Given the description of an element on the screen output the (x, y) to click on. 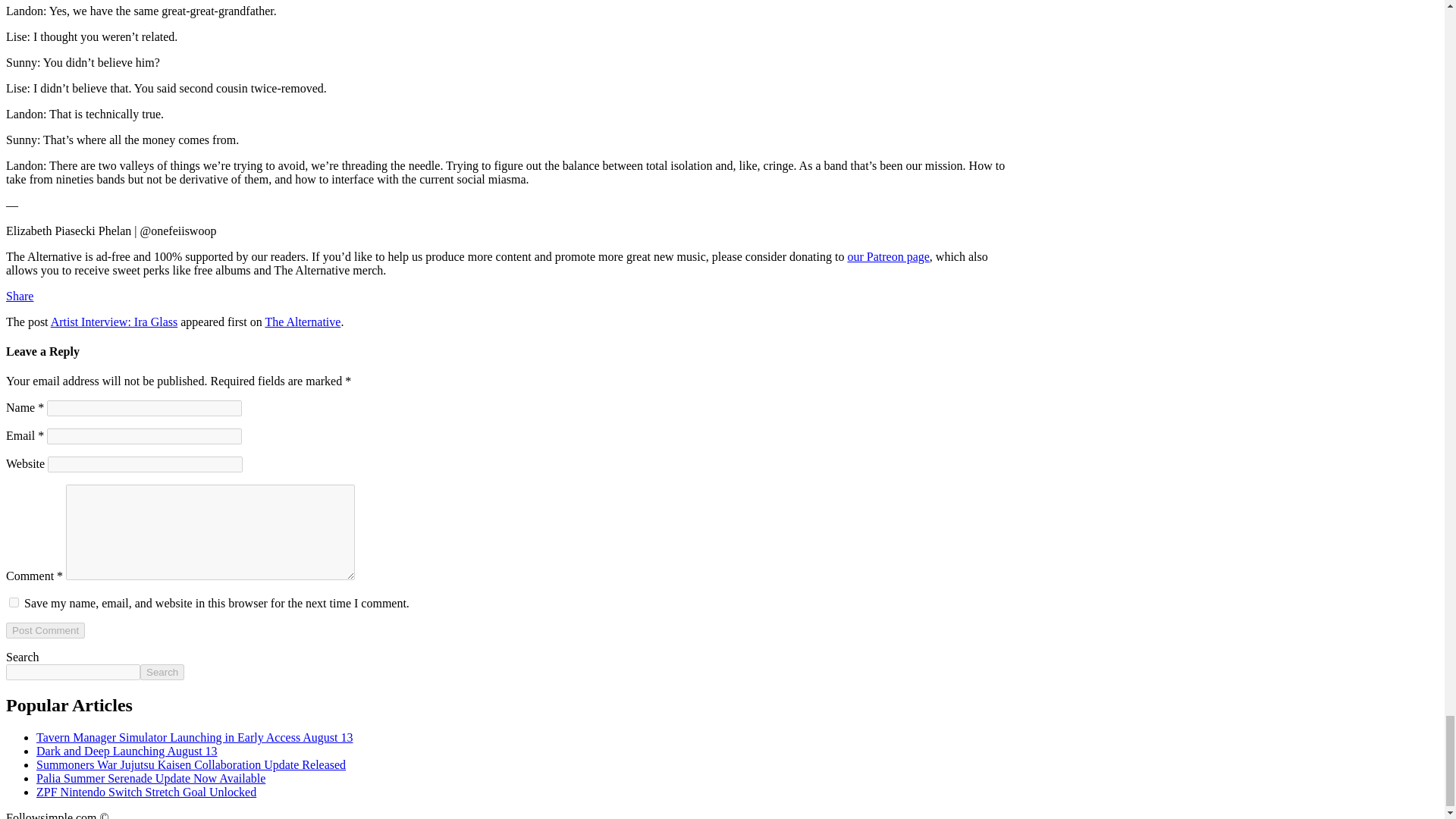
Artist Interview: Ira Glass (113, 321)
our Patreon page (887, 256)
Tavern Manager Simulator Launching in Early Access August 13 (194, 737)
Post Comment (44, 630)
Search (161, 672)
yes (13, 602)
Dark and Deep Launching August 13 (126, 750)
Summoners War Jujutsu Kaisen Collaboration Update Released (191, 764)
Share (19, 295)
ZPF Nintendo Switch Stretch Goal Unlocked (146, 791)
Post Comment (44, 630)
Palia Summer Serenade Update Now Available (150, 778)
The Alternative (302, 321)
